Given the description of an element on the screen output the (x, y) to click on. 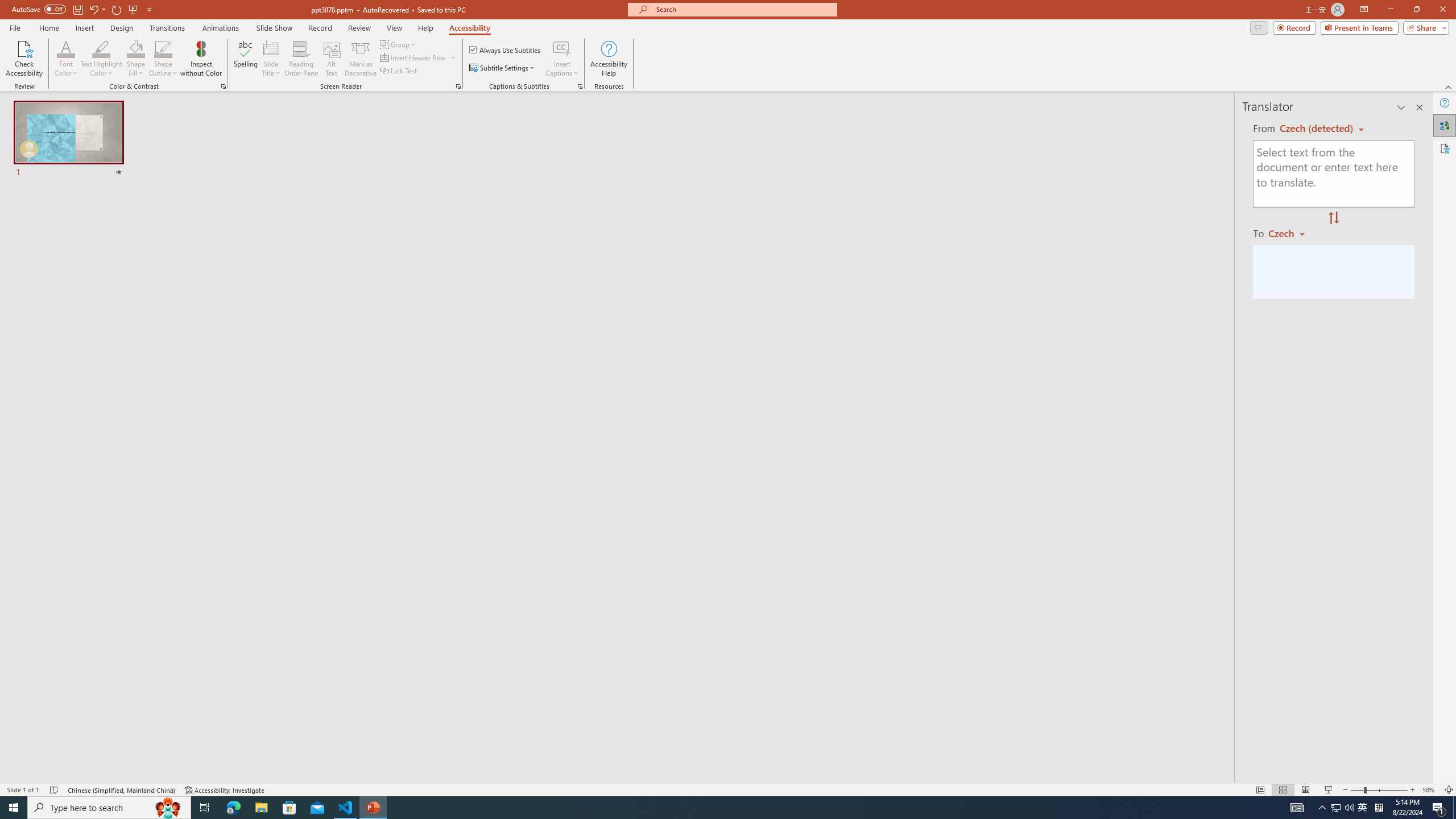
Slide Title (271, 48)
Color & Contrast (223, 85)
Subtitle Settings (502, 67)
Insert Captions (561, 48)
Captions & Subtitles (580, 85)
